Given the description of an element on the screen output the (x, y) to click on. 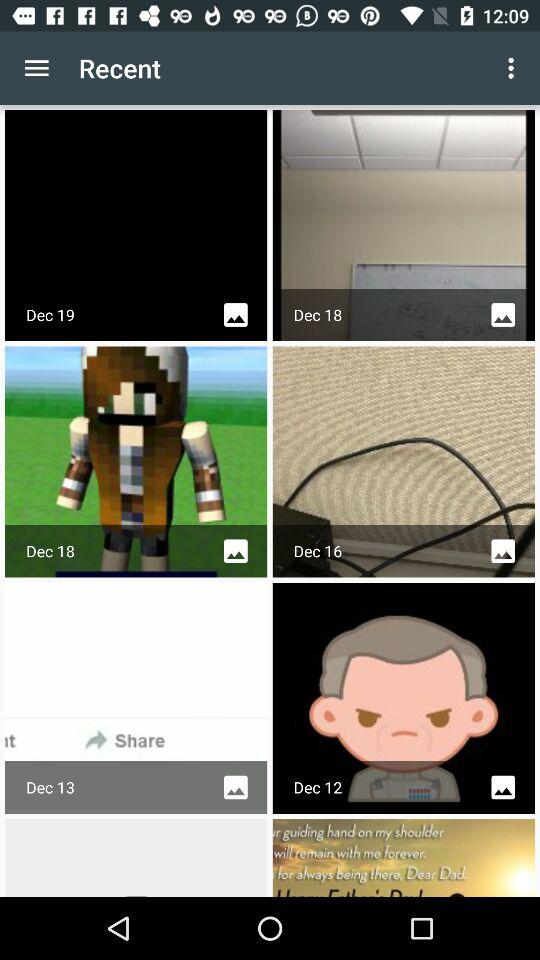
choose icon to the right of the recent item (513, 67)
